Given the description of an element on the screen output the (x, y) to click on. 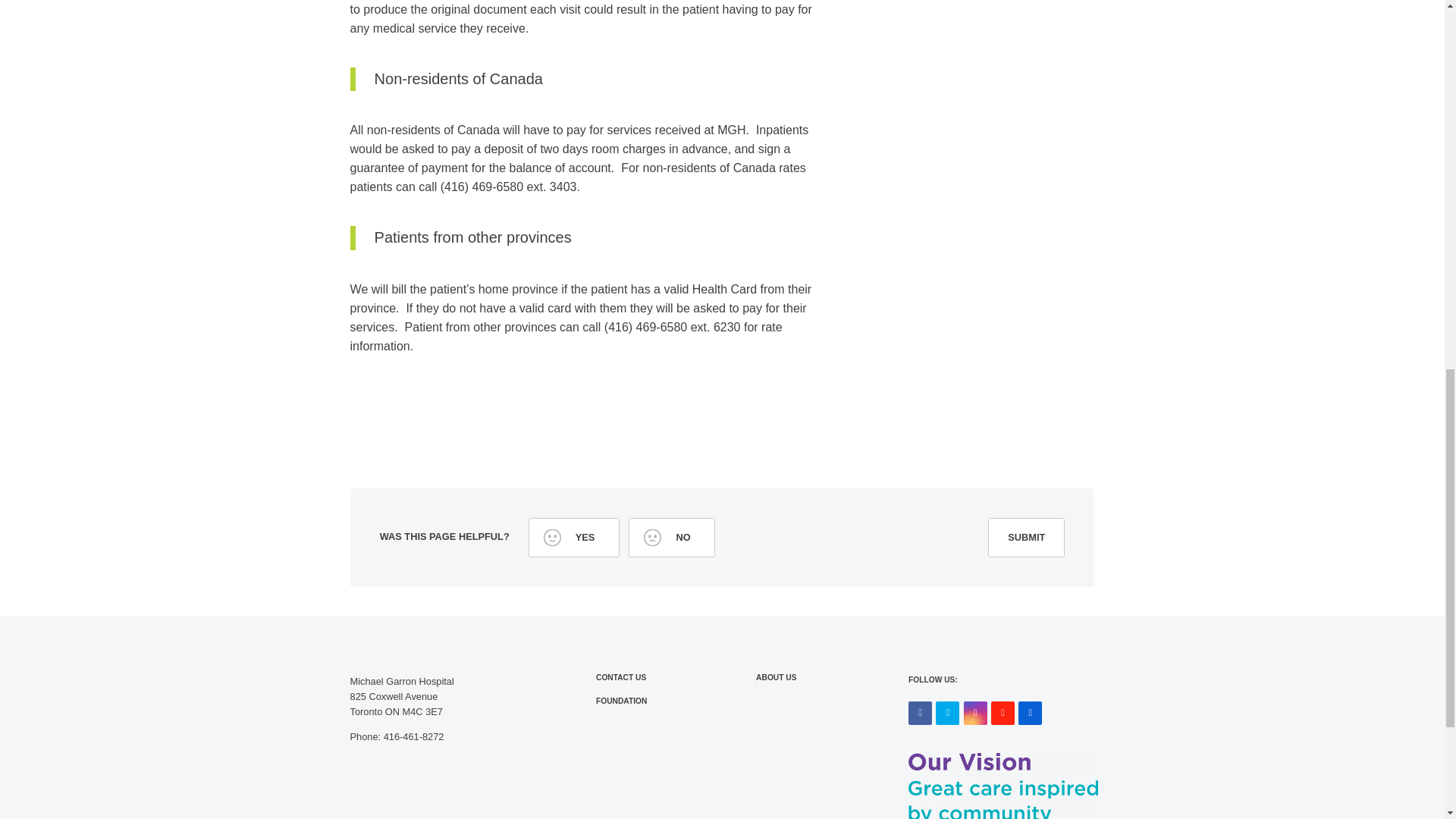
Our vision (1002, 785)
Submit (1026, 537)
